Given the description of an element on the screen output the (x, y) to click on. 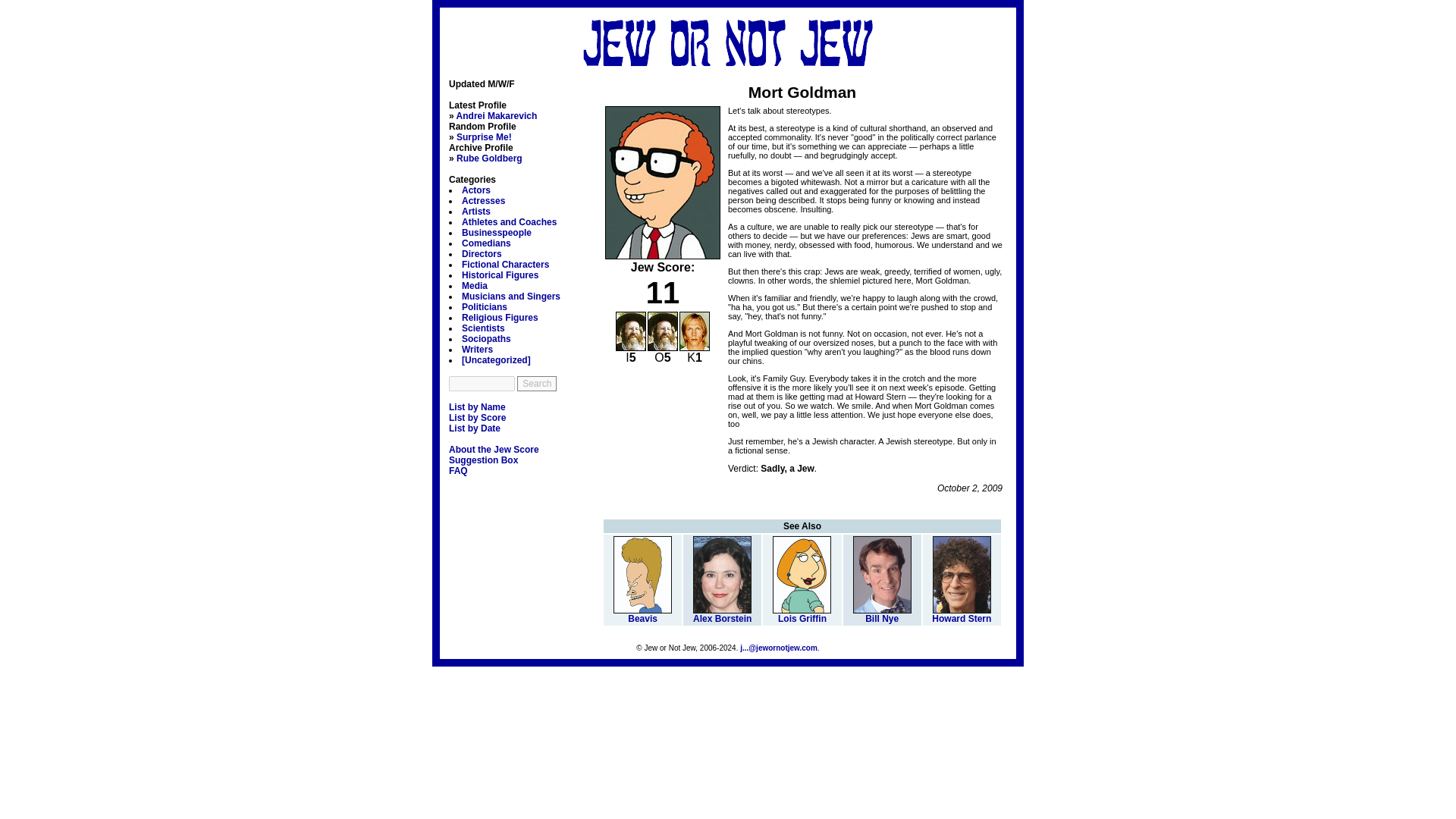
Search (536, 383)
Scientists (483, 327)
Media (474, 285)
FAQ (457, 470)
Search (536, 383)
Suggestion Box (483, 460)
Historical Figures (499, 275)
Fictional Characters (504, 264)
Businesspeople (496, 232)
Andrei Makarevich (497, 115)
